Given the description of an element on the screen output the (x, y) to click on. 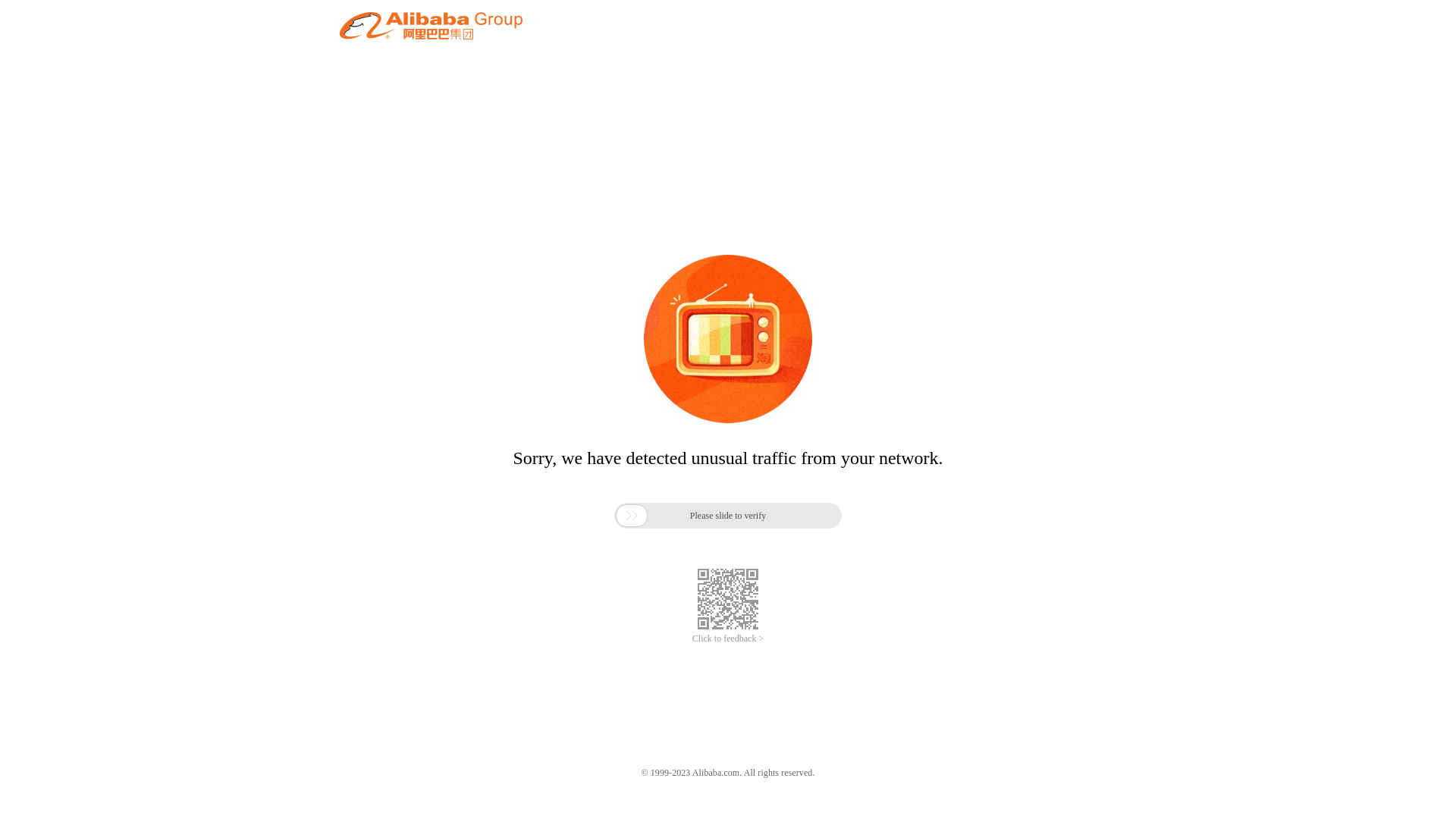
Click to feedback > Element type: text (727, 638)
